Given the description of an element on the screen output the (x, y) to click on. 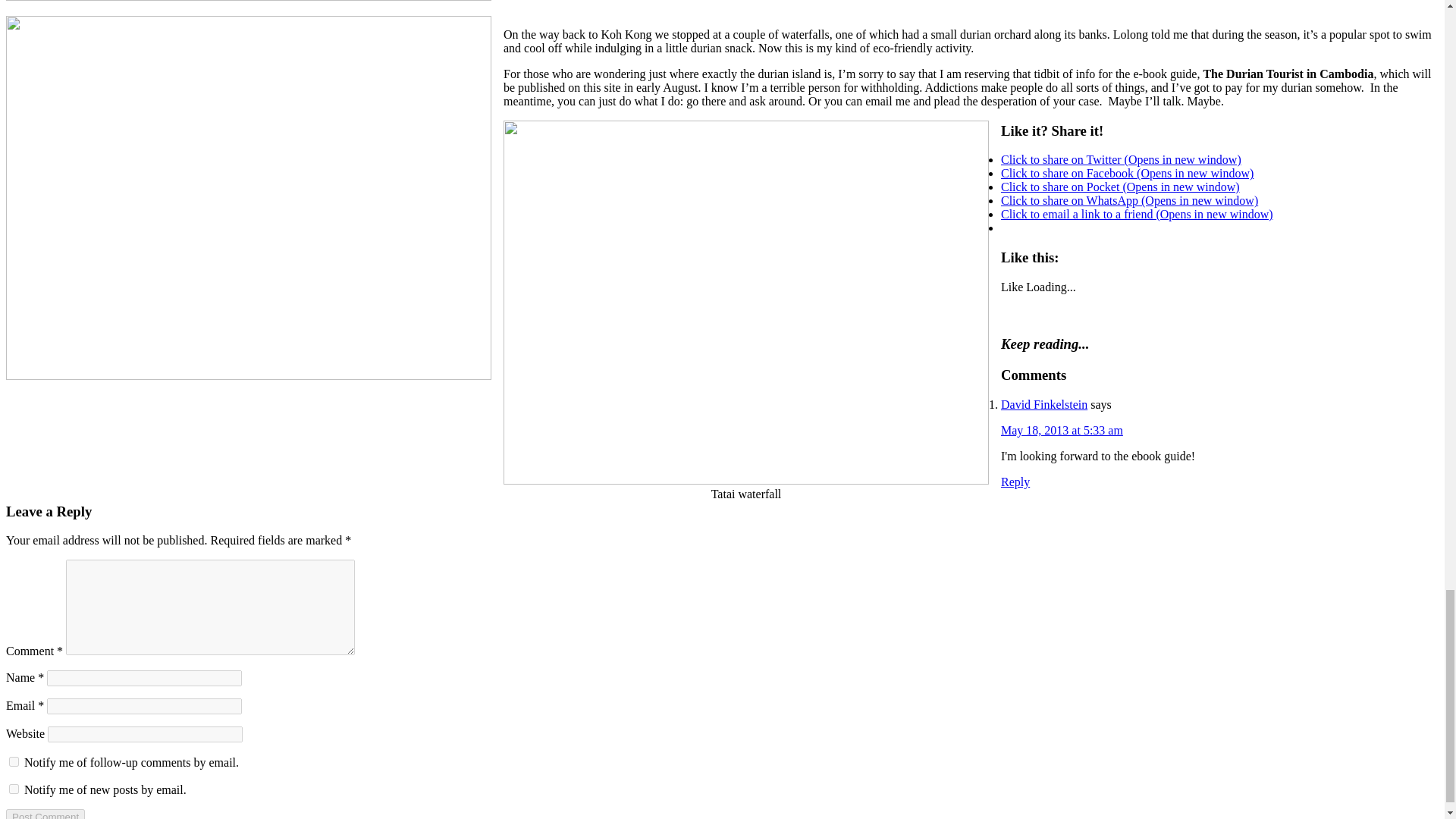
Click to share on WhatsApp (1129, 200)
Click to share on Facebook (1127, 173)
May 18, 2013 at 5:33 am (1061, 430)
David Finkelstein (1044, 404)
Click to share on Twitter (1121, 159)
Click to share on Pocket (1120, 186)
Reply (1015, 481)
subscribe (13, 761)
Click to email a link to a friend (1136, 214)
subscribe (13, 788)
